Given the description of an element on the screen output the (x, y) to click on. 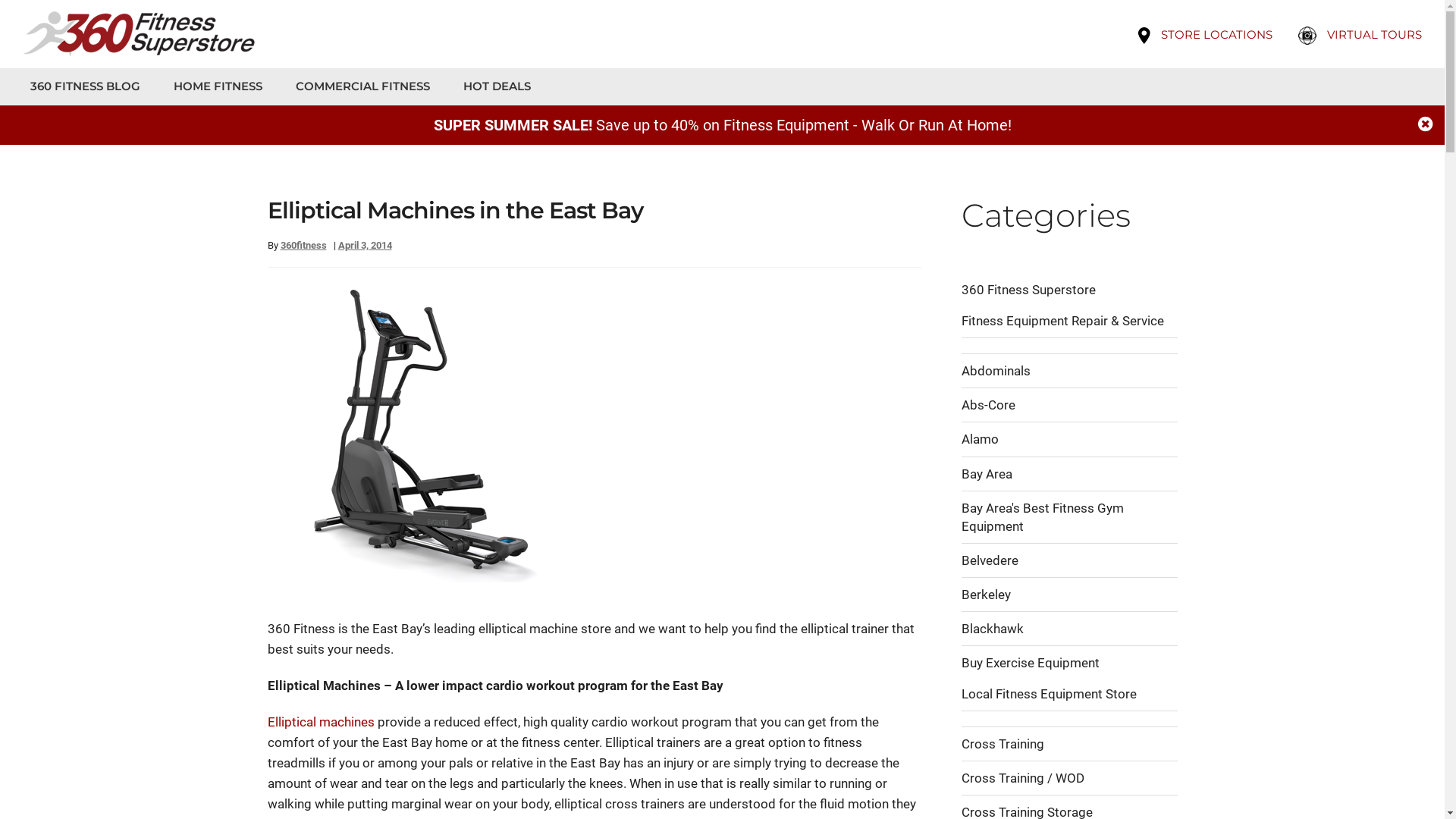
Cross Training Element type: text (1002, 743)
Blackhawk Element type: text (992, 628)
Cross Training / WOD Element type: text (1022, 777)
Local Fitness Equipment Store Element type: text (1048, 693)
Buy Exercise Equipment Element type: text (1030, 662)
Abdominals Element type: text (995, 370)
HOME FITNESS Element type: text (202, 86)
COMMERCIAL FITNESS Element type: text (347, 86)
Bay Area's Best Fitness Gym Equipment Element type: text (1042, 516)
Elliptical machines Element type: text (319, 721)
360 FITNESS BLOG Element type: text (81, 86)
Berkeley Element type: text (985, 594)
April 3, 2014 Element type: text (365, 245)
STORE LOCATIONS Element type: text (1216, 34)
360 Fitness Superstore Element type: text (1028, 289)
Belvedere Element type: text (989, 559)
VIRTUAL TOURS Element type: text (1370, 34)
360fitness Element type: text (303, 245)
Fitness Equipment Repair & Service Element type: text (1062, 320)
Alamo Element type: text (979, 438)
HOT DEALS Element type: text (481, 86)
Abs-Core Element type: text (988, 404)
Bay Area Element type: text (986, 472)
